Given the description of an element on the screen output the (x, y) to click on. 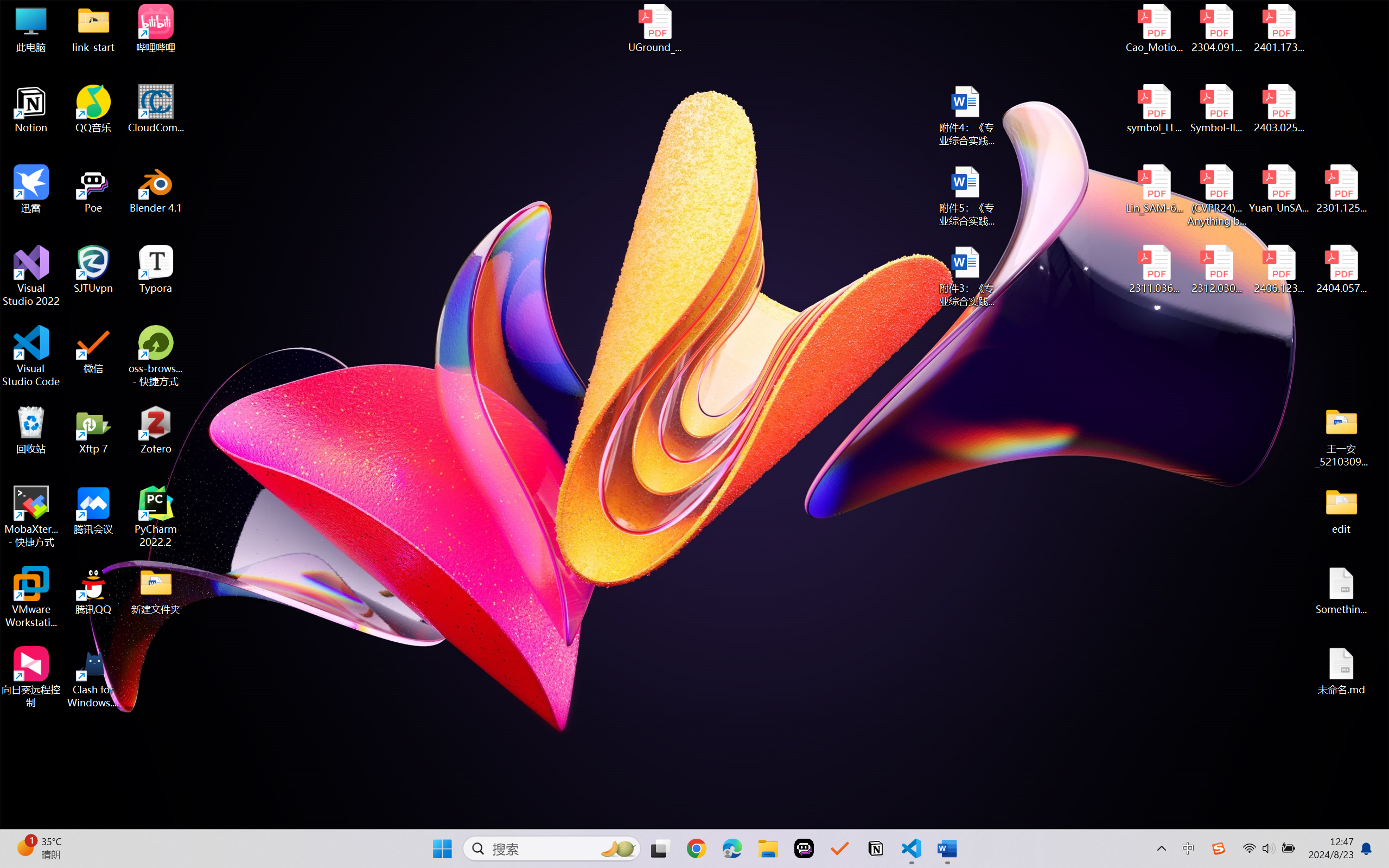
Microsoft Edge (731, 848)
Xftp 7 (93, 430)
2301.12597v3.pdf (1340, 189)
2406.12373v2.pdf (1278, 269)
UGround_paper.pdf (654, 28)
Something.md (1340, 591)
